Given the description of an element on the screen output the (x, y) to click on. 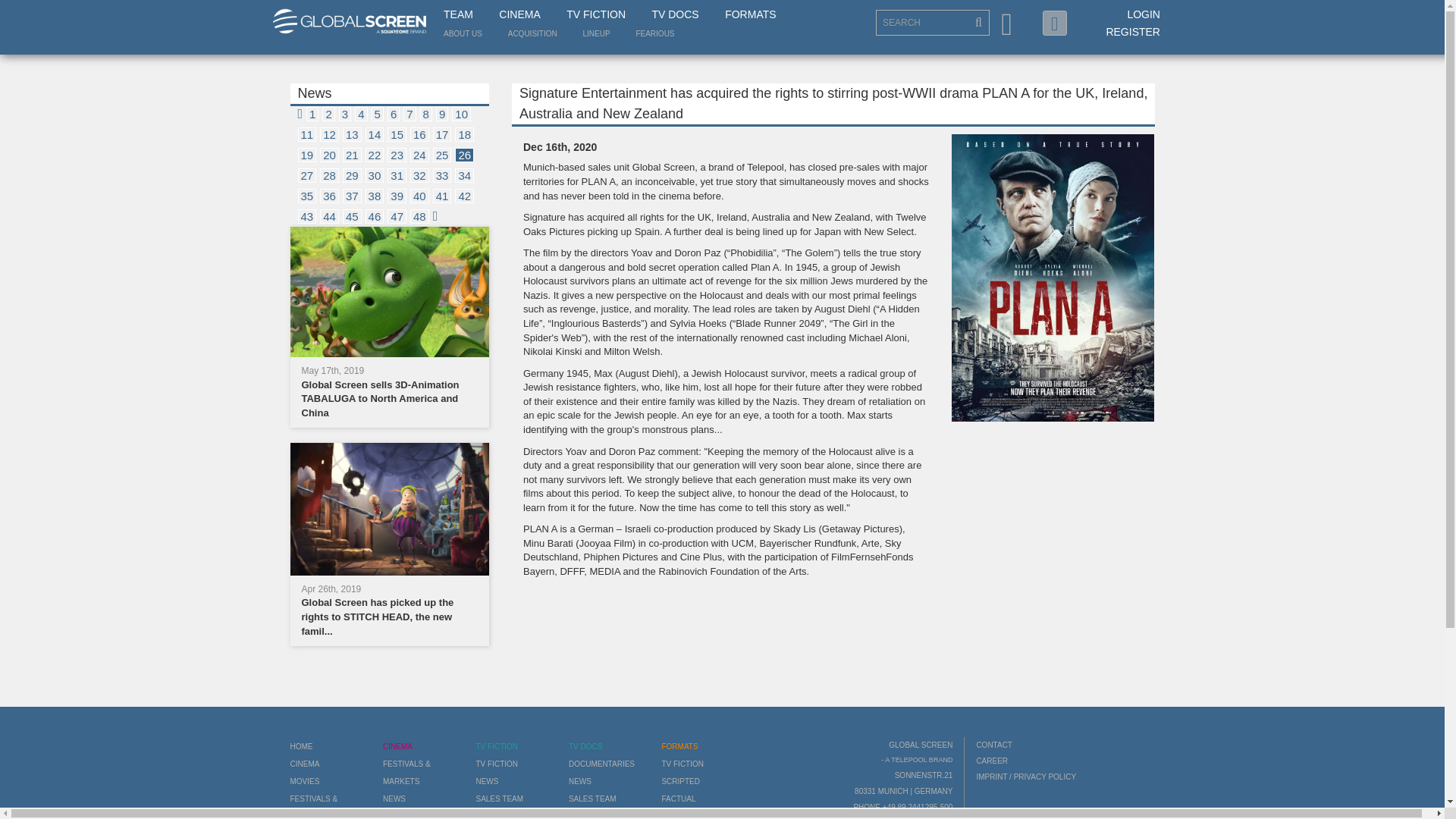
LOGIN (1143, 14)
TEAM (458, 14)
TV DOCS (674, 14)
CINEMA (519, 14)
ABOUT US (462, 33)
FORMATS (750, 14)
LINEUP (596, 33)
TV FICTION (596, 14)
FEARIOUS (654, 33)
REGISTER (1132, 31)
ACQUISITION (532, 33)
